Given the description of an element on the screen output the (x, y) to click on. 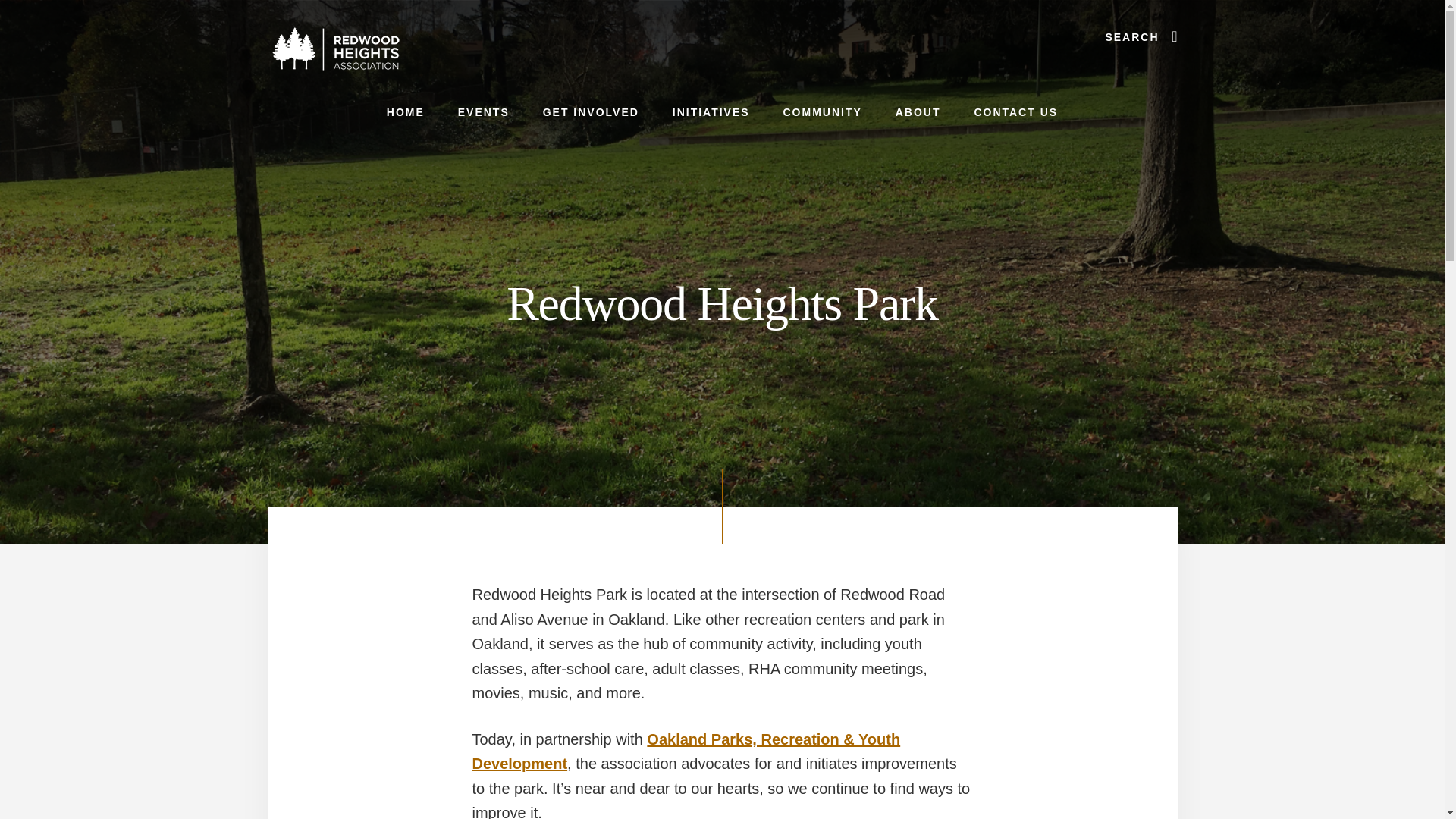
HOME (405, 112)
COMMUNITY (821, 112)
GET INVOLVED (590, 112)
ABOUT (918, 112)
EVENTS (483, 112)
INITIATIVES (711, 112)
CONTACT US (1015, 112)
